Given the description of an element on the screen output the (x, y) to click on. 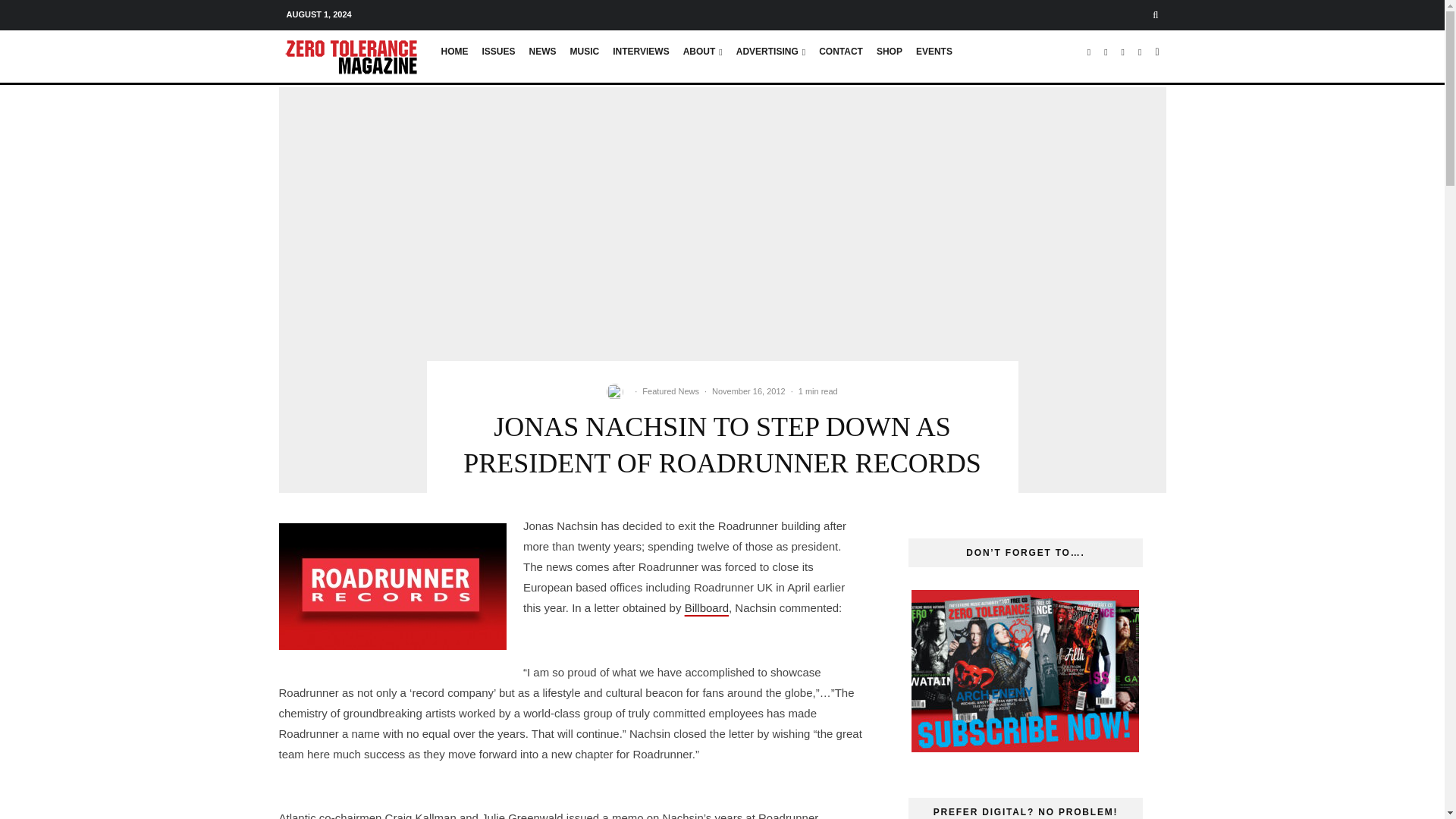
ADVERTISING (770, 56)
EVENTS (933, 56)
ABOUT (703, 56)
ISSUES (497, 56)
Featured News (670, 391)
INTERVIEWS (640, 56)
CONTACT (840, 56)
Billboard (706, 607)
